Given the description of an element on the screen output the (x, y) to click on. 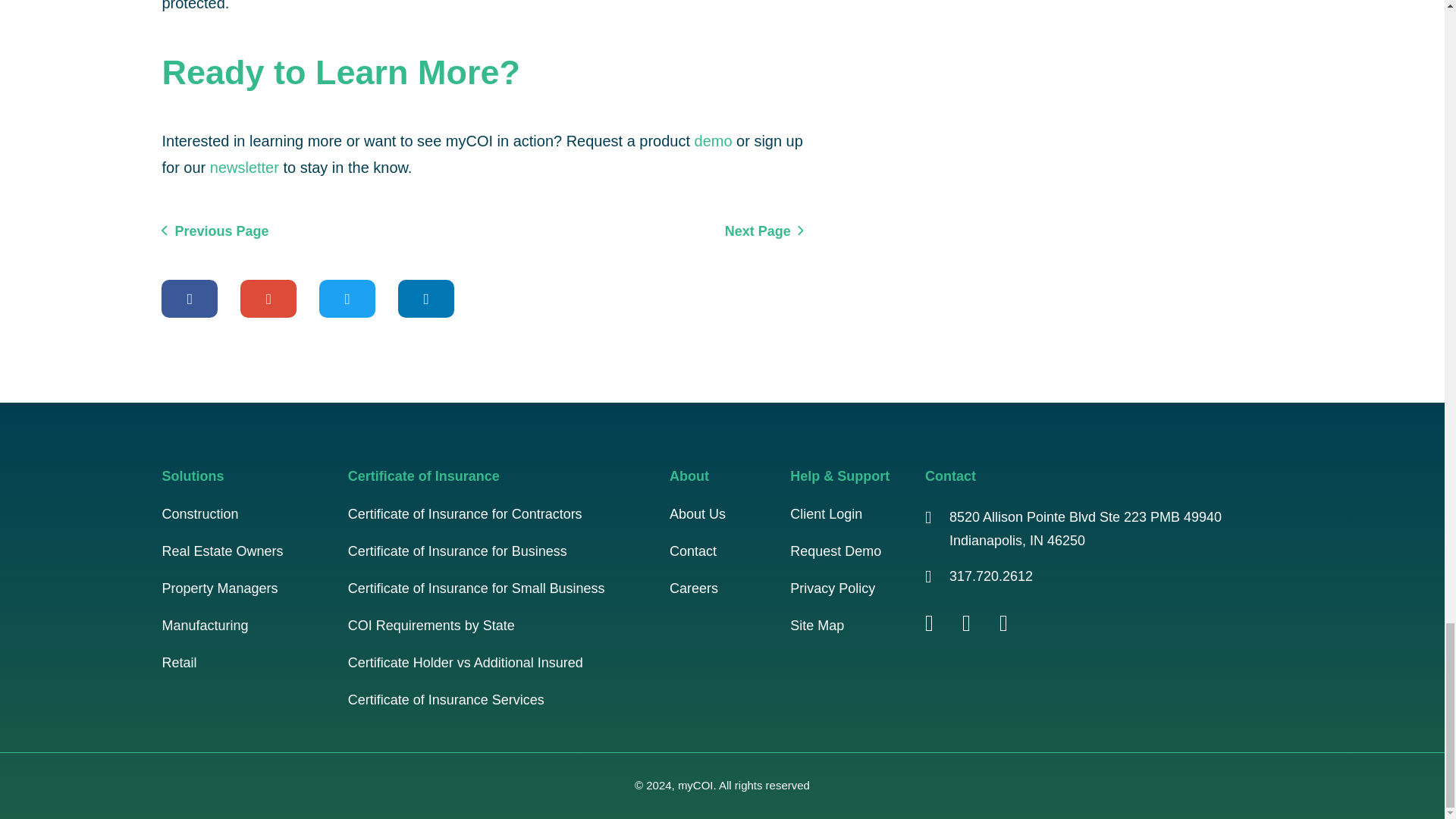
newsletter (244, 167)
demo (713, 140)
Previous Page (214, 230)
Next Page (764, 230)
